Given the description of an element on the screen output the (x, y) to click on. 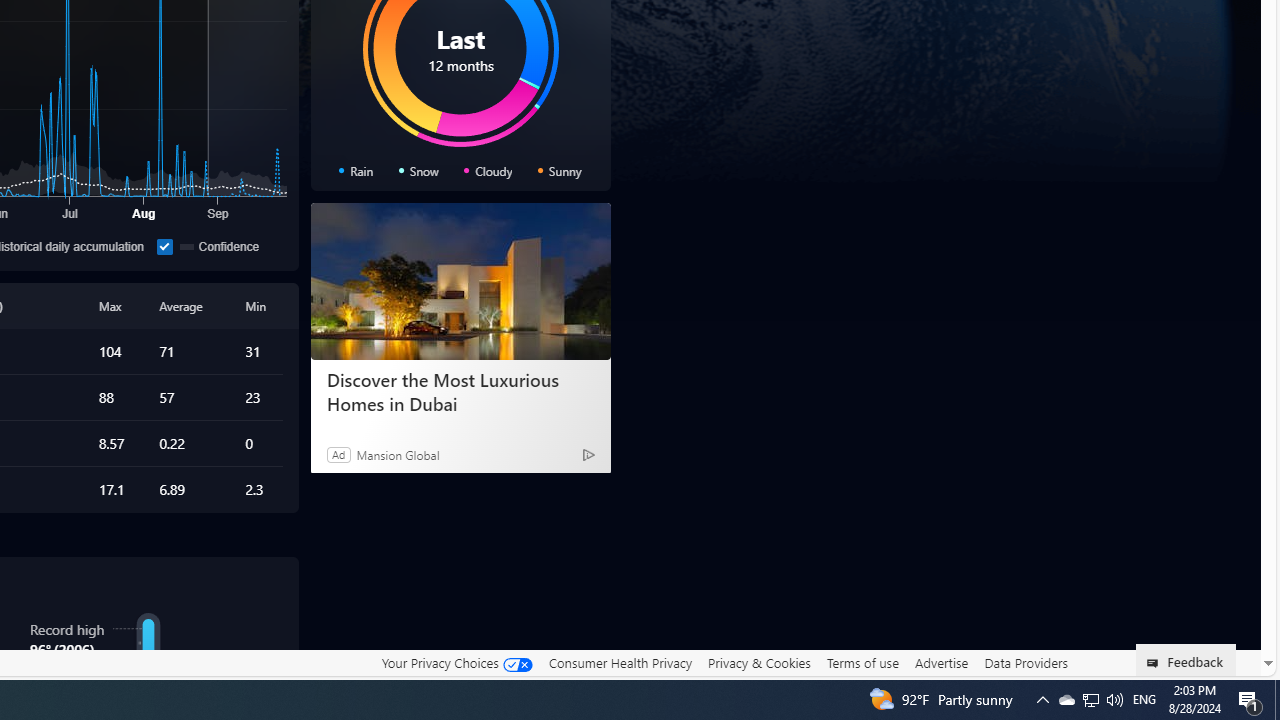
Consumer Health Privacy (619, 663)
Mansion Global (397, 453)
Terms of use (861, 663)
Data Providers (1025, 663)
Consumer Health Privacy (619, 662)
Your Privacy Choices (456, 663)
Terms of use (861, 662)
Class: feedback_link_icon-DS-EntryPoint1-1 (1156, 663)
Confidence (164, 246)
Privacy & Cookies (759, 662)
Privacy & Cookies (759, 663)
